Given the description of an element on the screen output the (x, y) to click on. 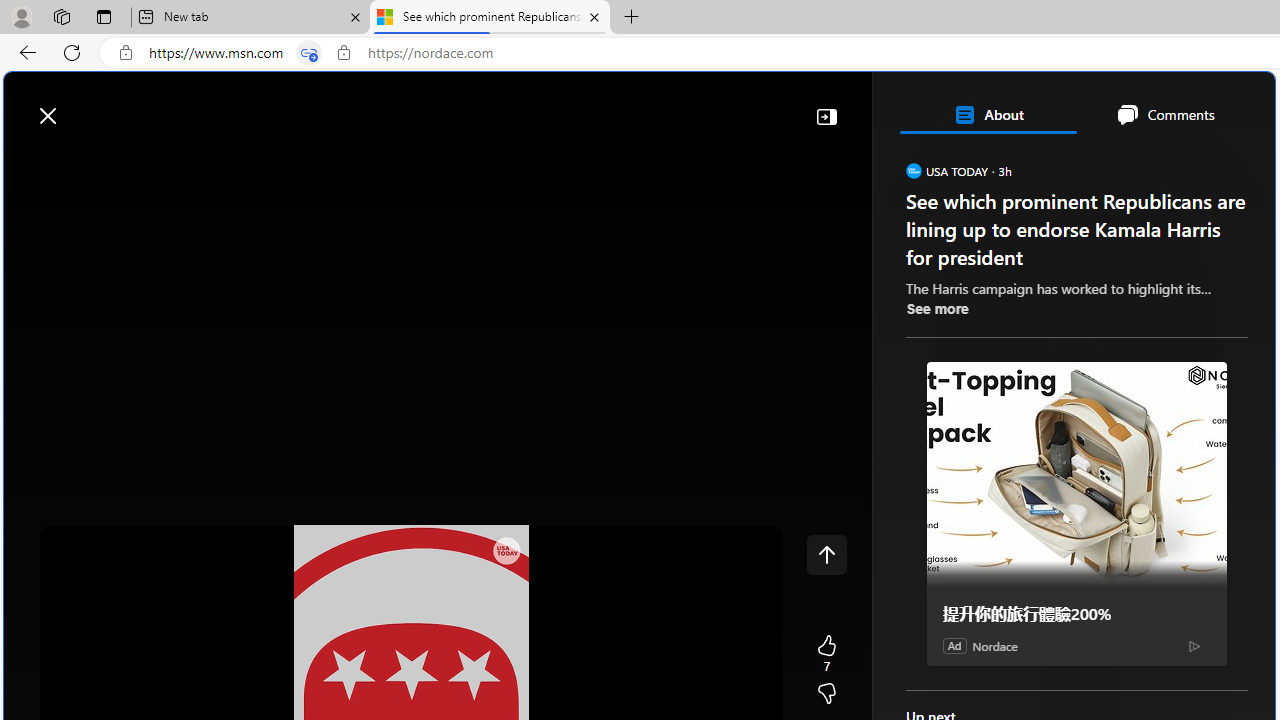
Skip to content (86, 105)
Enter your search term (644, 106)
Skip to footer (82, 105)
7 Like (826, 653)
Microsoft rewards (1151, 105)
The Seeing Eye (1020, 439)
Love dogs? We do, too. (1084, 288)
